Given the description of an element on the screen output the (x, y) to click on. 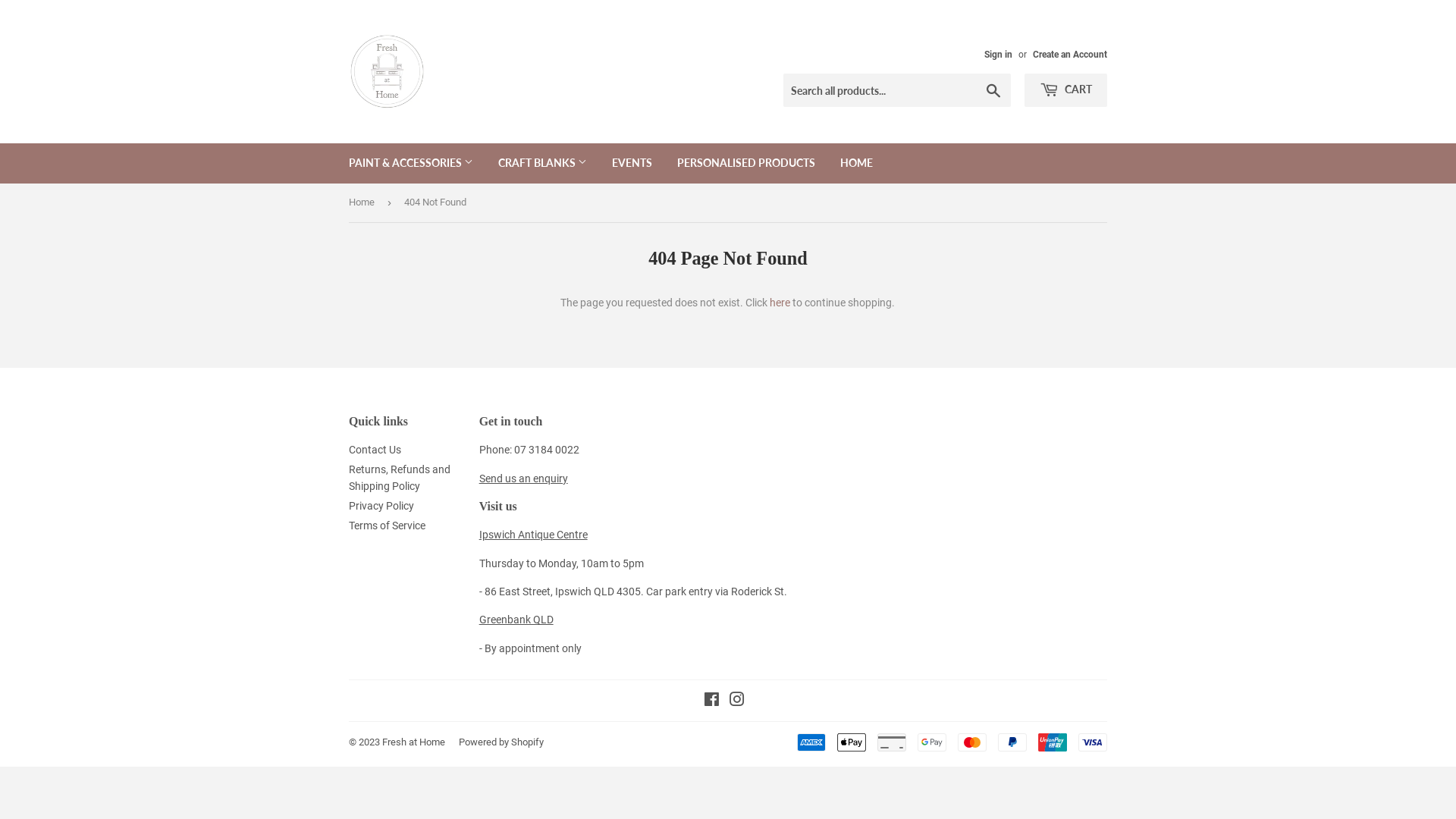
Contact Us Element type: text (374, 449)
HOME Element type: text (856, 162)
Search Element type: text (993, 90)
Send us an enquiry Element type: text (523, 478)
CART Element type: text (1065, 89)
EVENTS Element type: text (631, 162)
Returns, Refunds and Shipping Policy Element type: text (399, 477)
Sign in Element type: text (998, 54)
Ipswich Antique Centre Element type: text (533, 534)
Terms of Service Element type: text (386, 525)
Create an Account Element type: text (1069, 54)
Fresh at Home Element type: text (413, 741)
Instagram Element type: text (736, 701)
here Element type: text (779, 302)
Privacy Policy Element type: text (381, 505)
CRAFT BLANKS Element type: text (542, 162)
Home Element type: text (363, 202)
Powered by Shopify Element type: text (500, 741)
Facebook Element type: text (711, 701)
PERSONALISED PRODUCTS Element type: text (745, 162)
PAINT & ACCESSORIES Element type: text (410, 162)
